Given the description of an element on the screen output the (x, y) to click on. 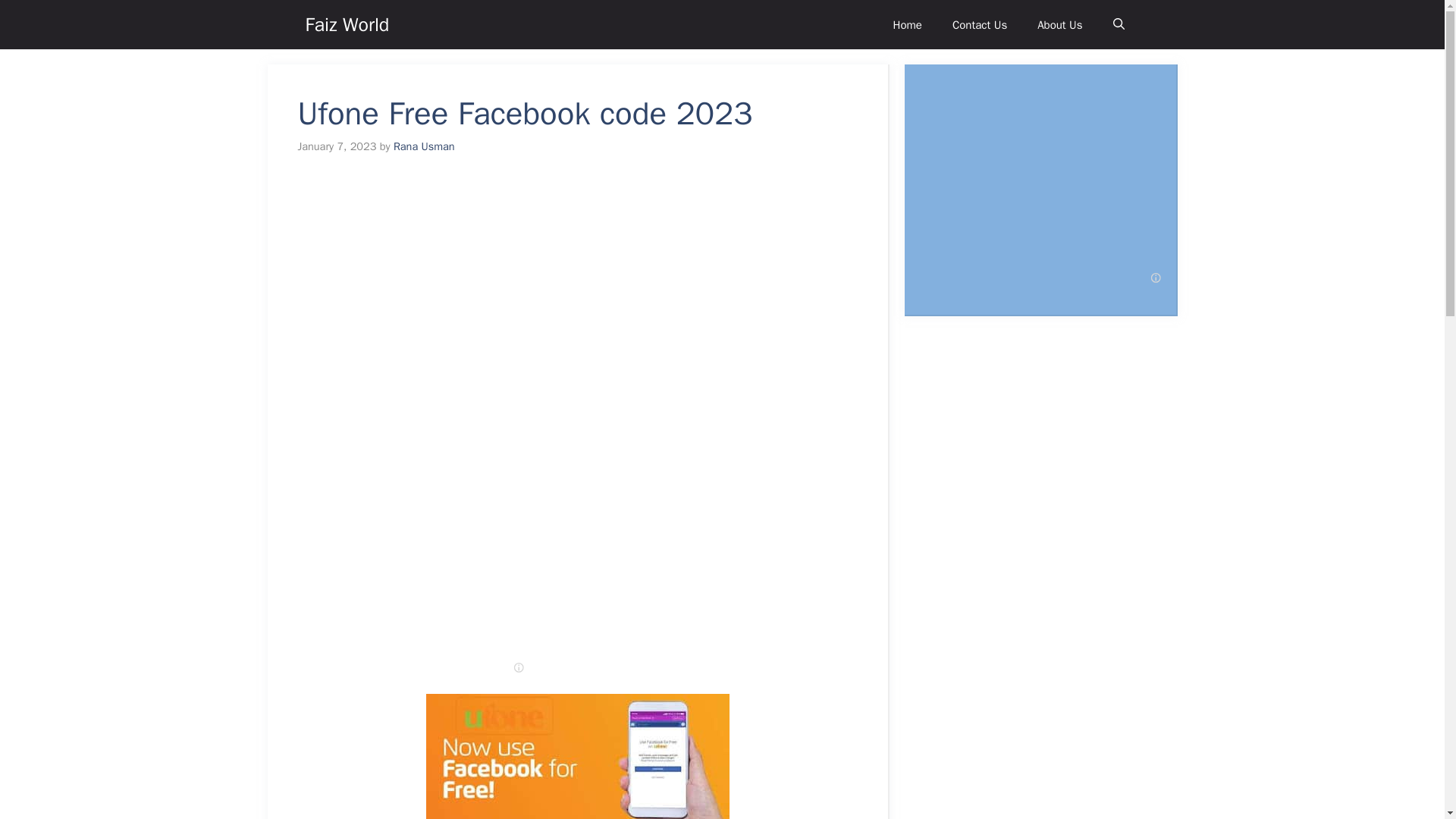
Rana Usman (423, 146)
Contact Us (979, 23)
Home (907, 23)
View all posts by Rana Usman (423, 146)
About Us (1059, 23)
Ufone Free Facebook code (577, 756)
Faiz World (346, 24)
